Given the description of an element on the screen output the (x, y) to click on. 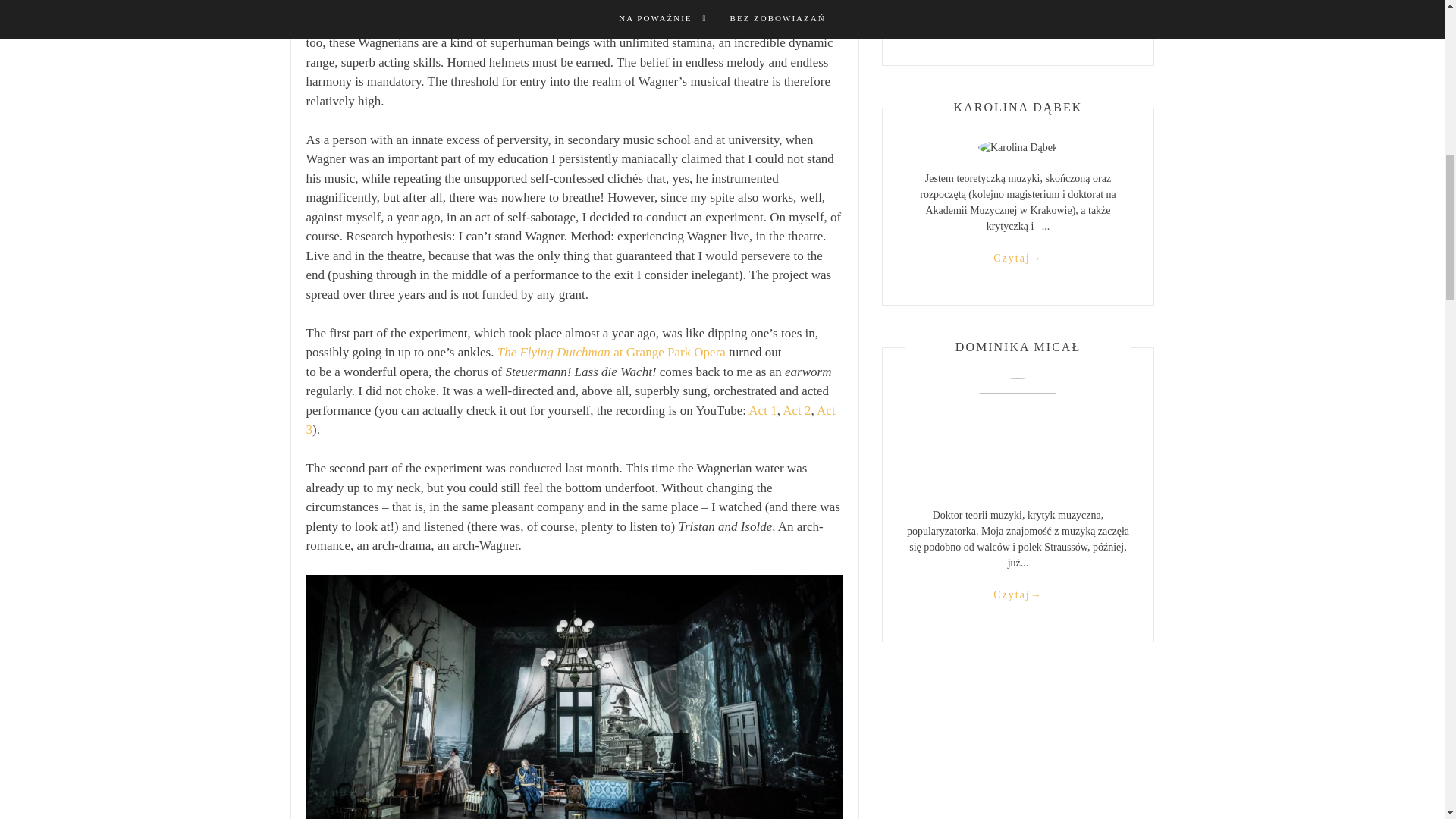
Act 1 (762, 410)
Act 2 (796, 410)
Act 3 (570, 420)
The Flying Dutchman (554, 351)
at Grange Park Opera (668, 351)
